Given the description of an element on the screen output the (x, y) to click on. 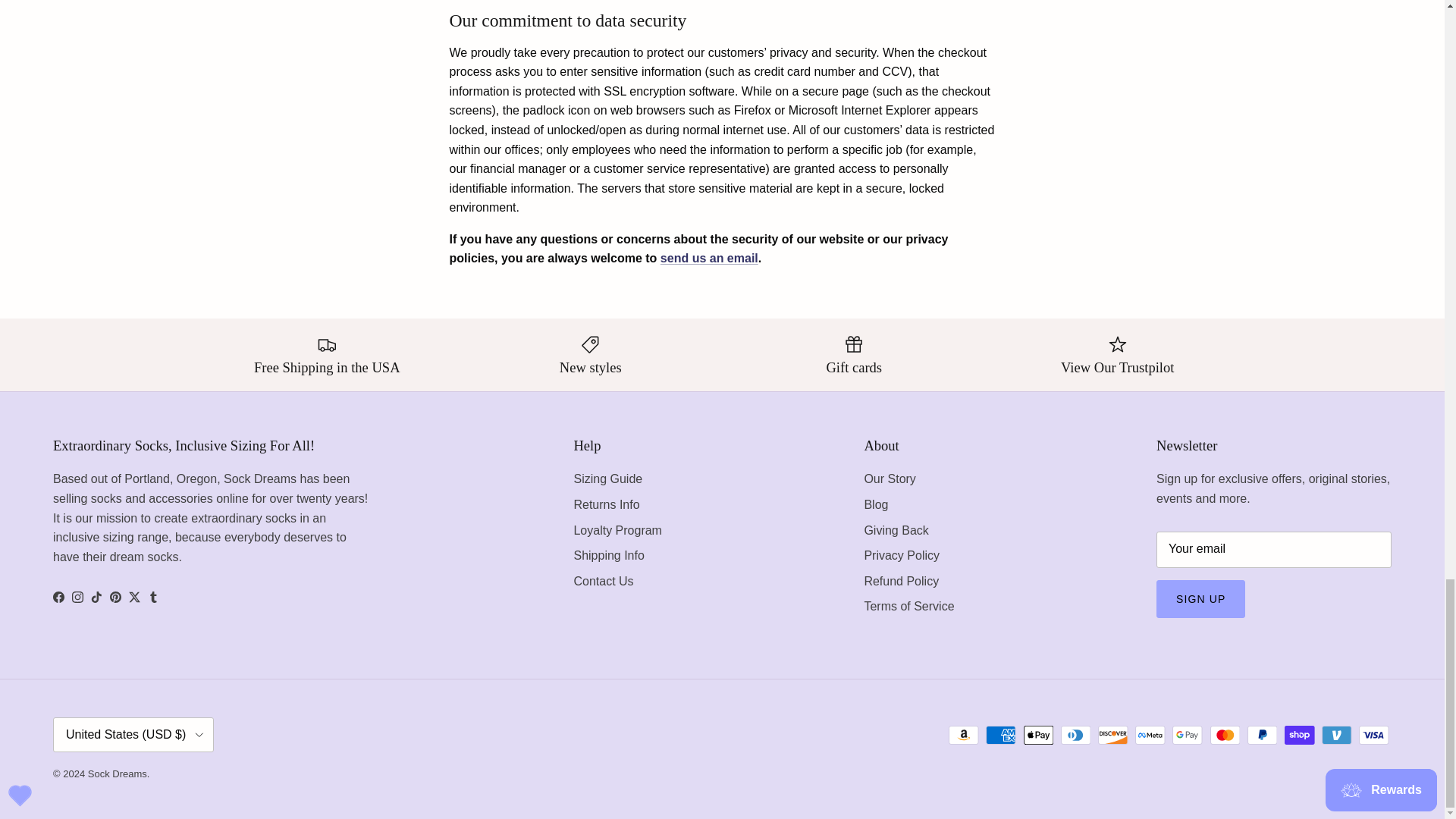
Sock Dreams on TikTok (95, 596)
Sock Dreams on Pinterest (115, 596)
Sock Dreams on Facebook (58, 596)
Sock Dreams on Tumblr (153, 596)
Sock Dreams on Instagram (76, 596)
Amazon (963, 734)
Sock Dreams on Twitter (134, 596)
